Given the description of an element on the screen output the (x, y) to click on. 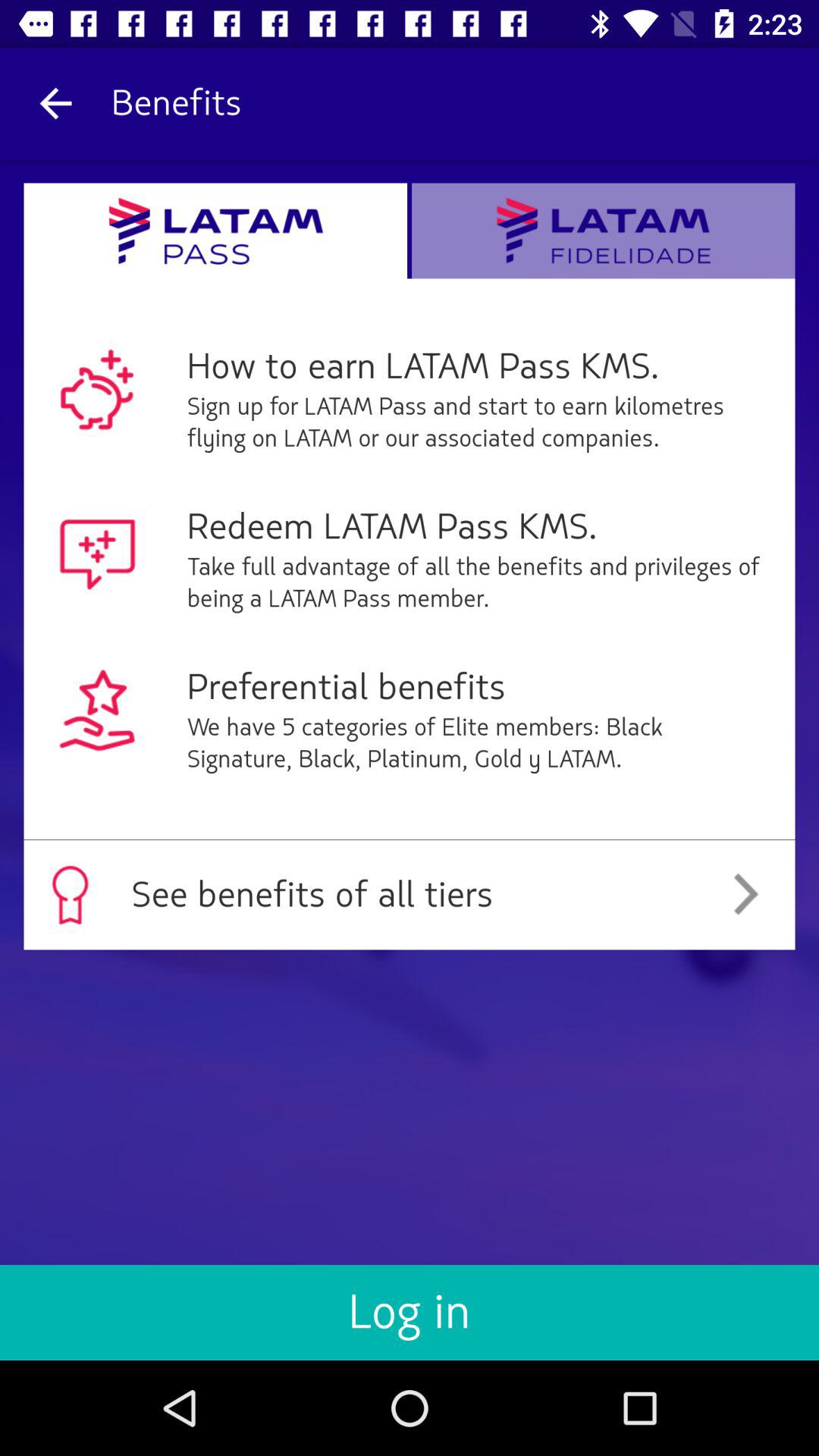
select benefit option (603, 230)
